Given the description of an element on the screen output the (x, y) to click on. 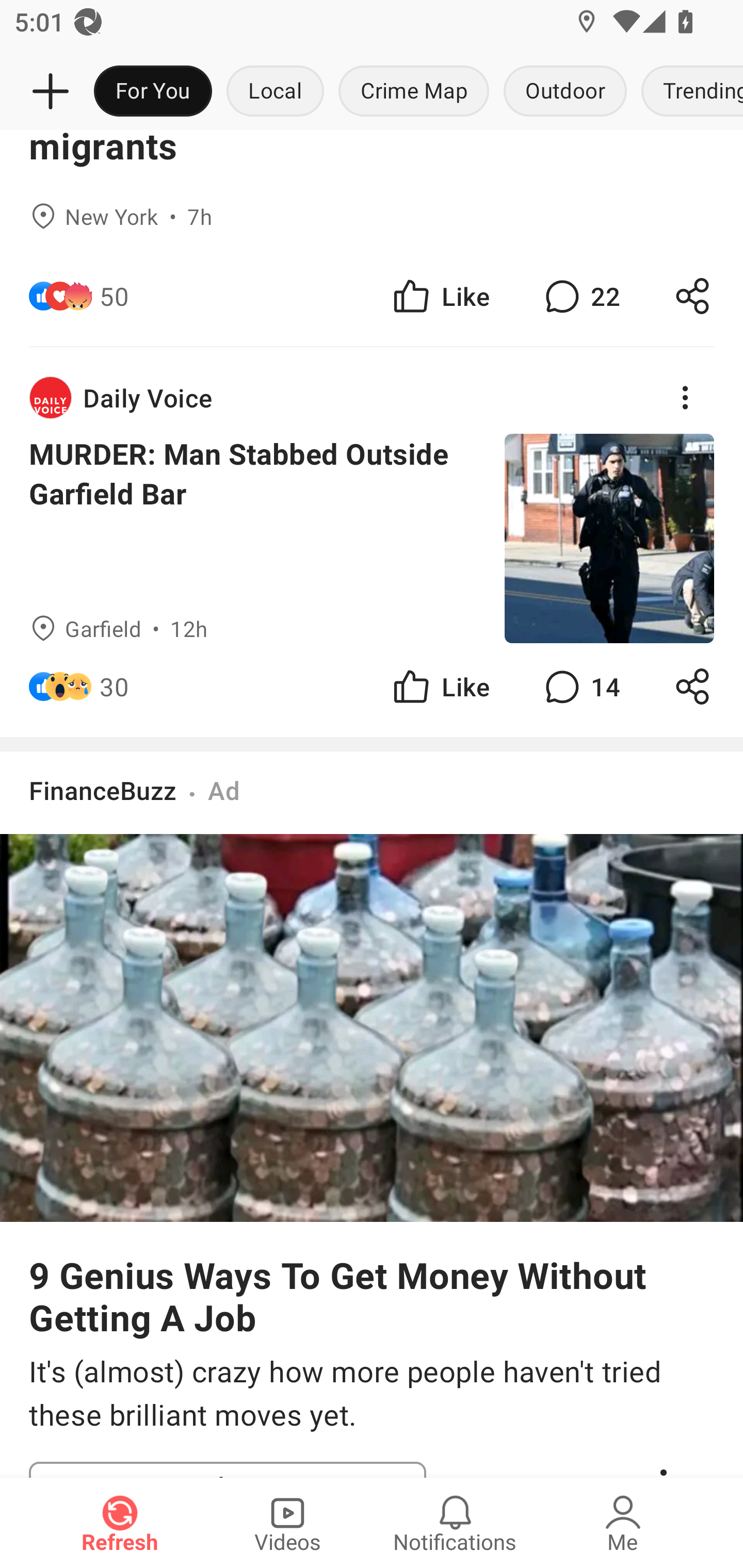
For You (152, 91)
Local (275, 91)
Crime Map (413, 91)
Outdoor (564, 91)
Trending (688, 91)
50 (114, 295)
Like (439, 295)
22 (579, 295)
30 (114, 685)
Like (439, 685)
14 (579, 685)
FinanceBuzz (102, 790)
9 Genius Ways To Get Money Without Getting A Job (371, 1295)
Videos (287, 1522)
Notifications (455, 1522)
Me (622, 1522)
